Given the description of an element on the screen output the (x, y) to click on. 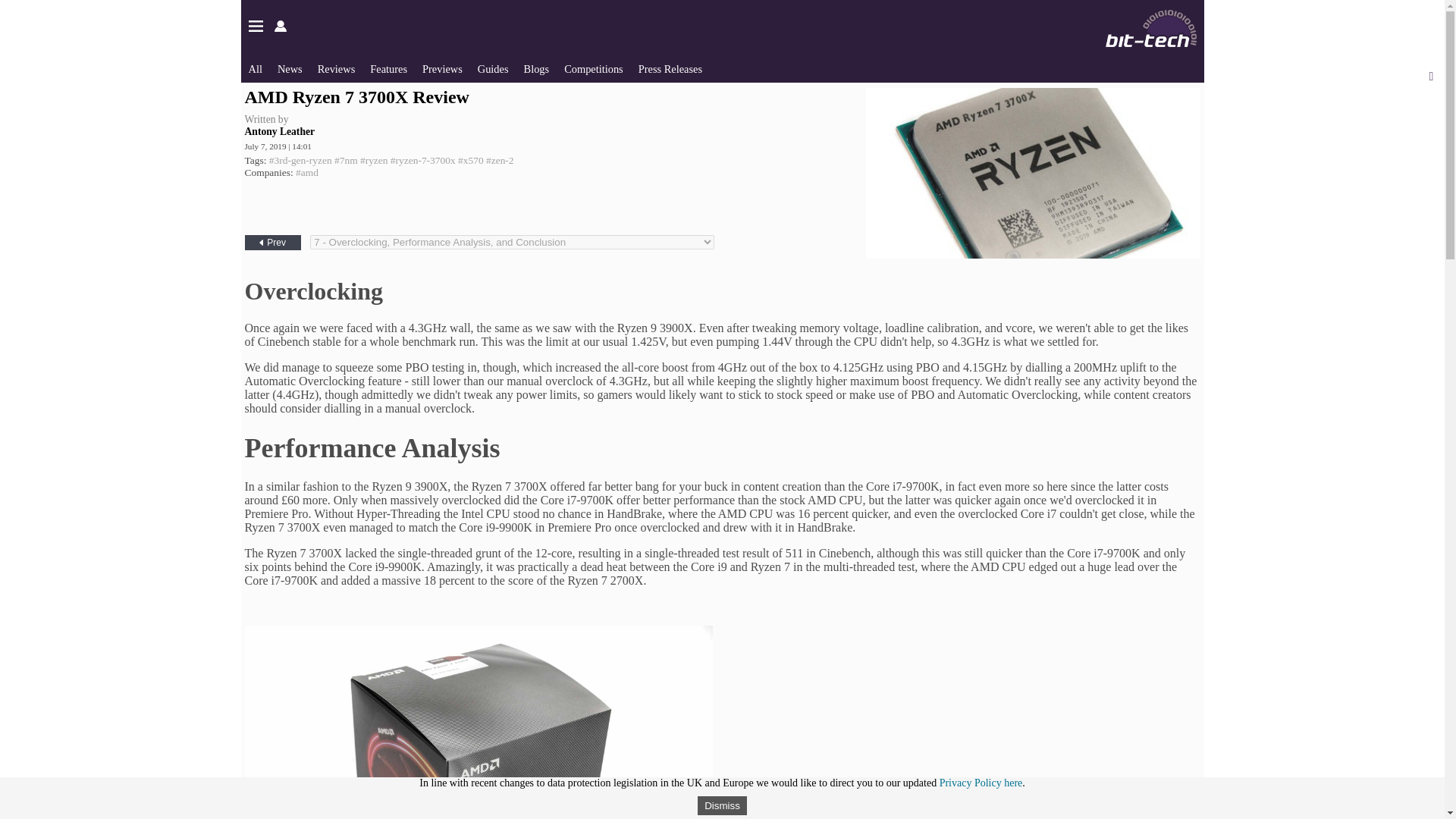
Prev (271, 242)
Previews (442, 69)
Guides (492, 69)
Blogs (537, 69)
Competitions (593, 69)
Press Releases (670, 69)
Features (388, 69)
All (255, 69)
News (290, 69)
Reviews (336, 69)
